Given the description of an element on the screen output the (x, y) to click on. 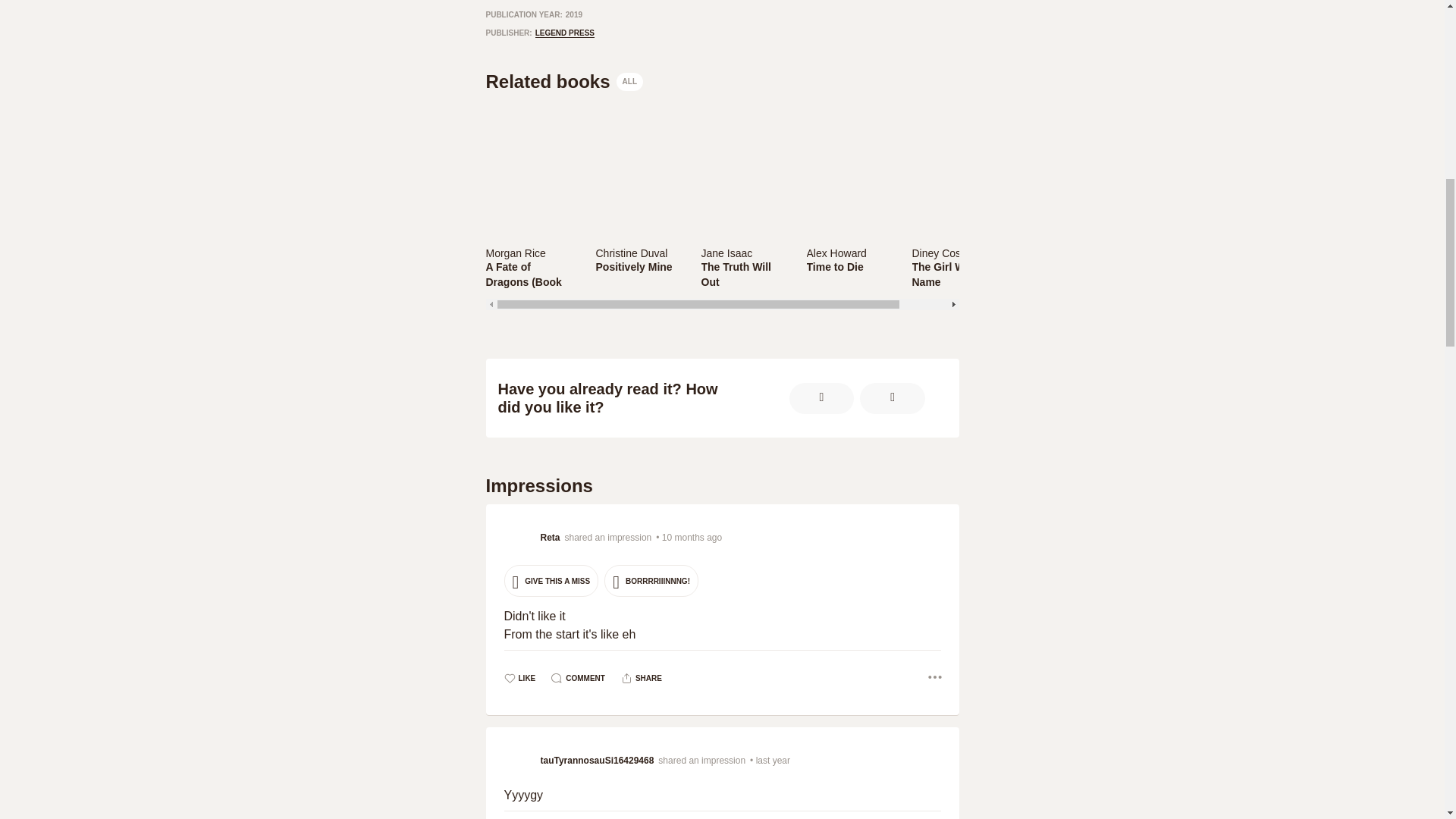
Christine Duval (631, 253)
Diney Costeloe (953, 252)
Diney Costeloe (947, 253)
The Truth Will Out (743, 274)
Morgan Rice (530, 252)
Morgan Rice (514, 253)
The Truth Will Out (743, 274)
Jane Isaac (726, 253)
Jane Isaac (743, 252)
The Girl With No Name (953, 274)
